Given the description of an element on the screen output the (x, y) to click on. 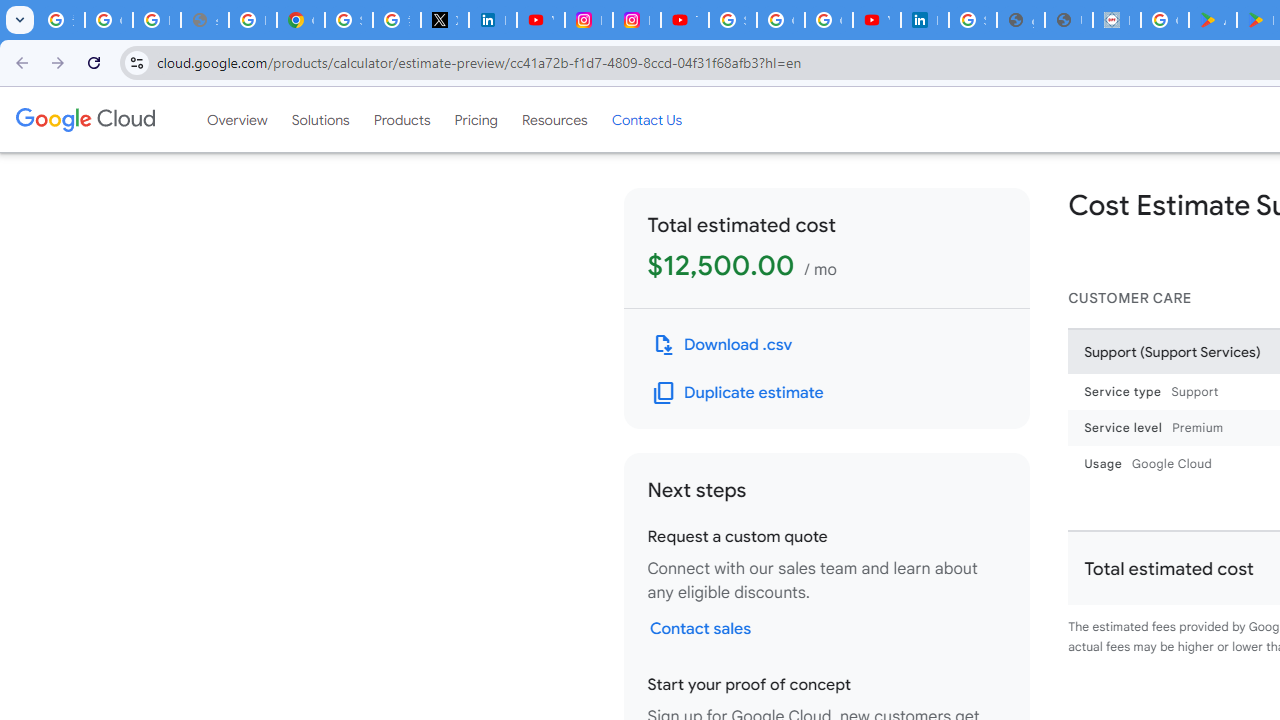
Data Privacy Framework (1116, 20)
Solutions (320, 119)
Google Cloud (84, 119)
support.google.com - Network error (204, 20)
YouTube Content Monetization Policies - How YouTube Works (540, 20)
Android Apps on Google Play (1212, 20)
LinkedIn Privacy Policy (492, 20)
